Given the description of an element on the screen output the (x, y) to click on. 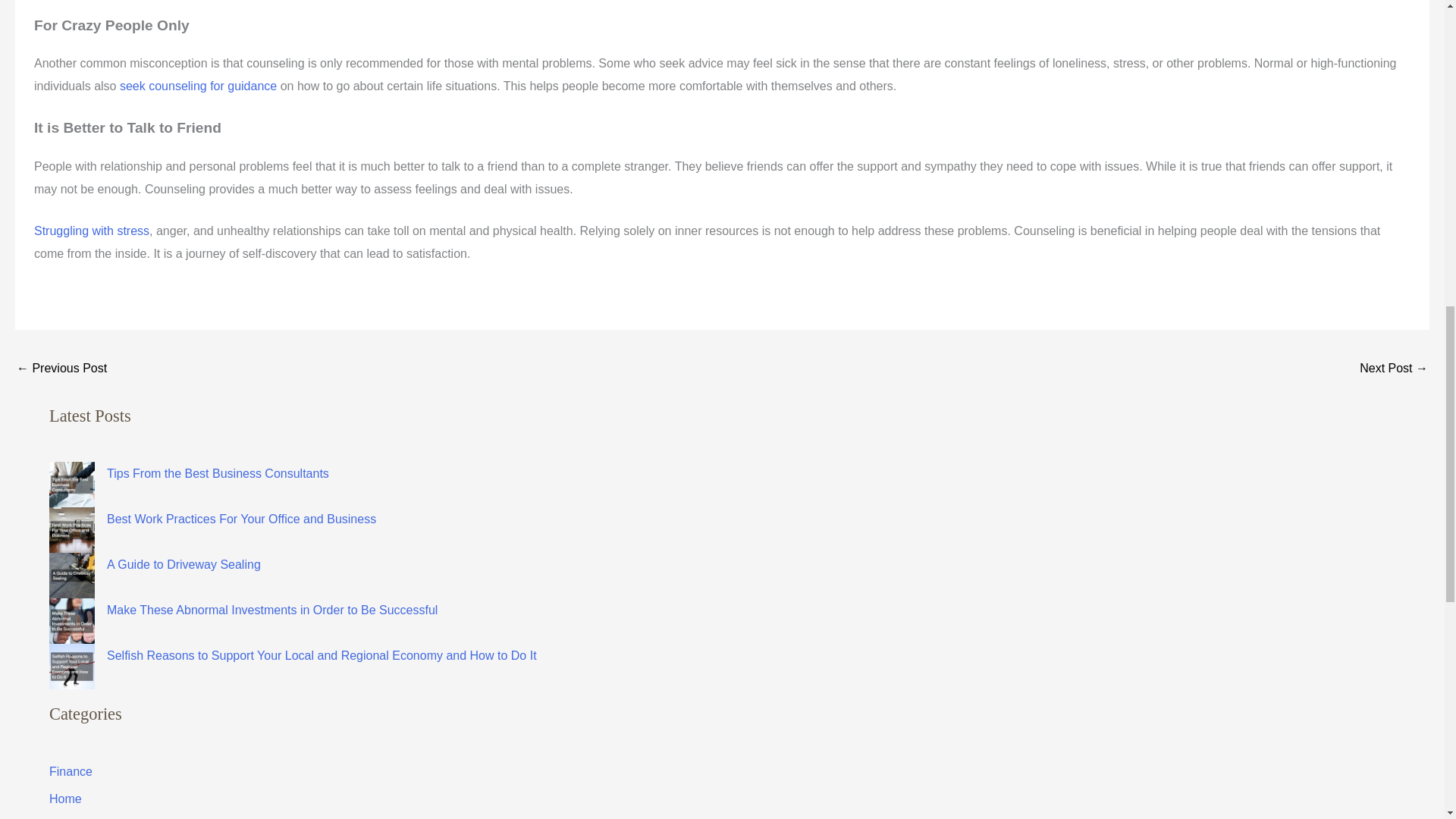
Center for Disease Control and Prevention (91, 230)
Tips From the Best Business Consultants (217, 472)
Home (65, 798)
seek counseling for guidance (197, 85)
Home Essentials to Indulge the Introverts  (61, 369)
Struggling with stress (91, 230)
Best Work Practices For Your Office and Business (240, 518)
Driving a Hard Bargain in an Auto Auction (1393, 369)
Pysch Central (197, 85)
Finance (71, 771)
Make These Abnormal Investments in Order to Be Successful (272, 609)
A Guide to Driveway Sealing (183, 563)
